Given the description of an element on the screen output the (x, y) to click on. 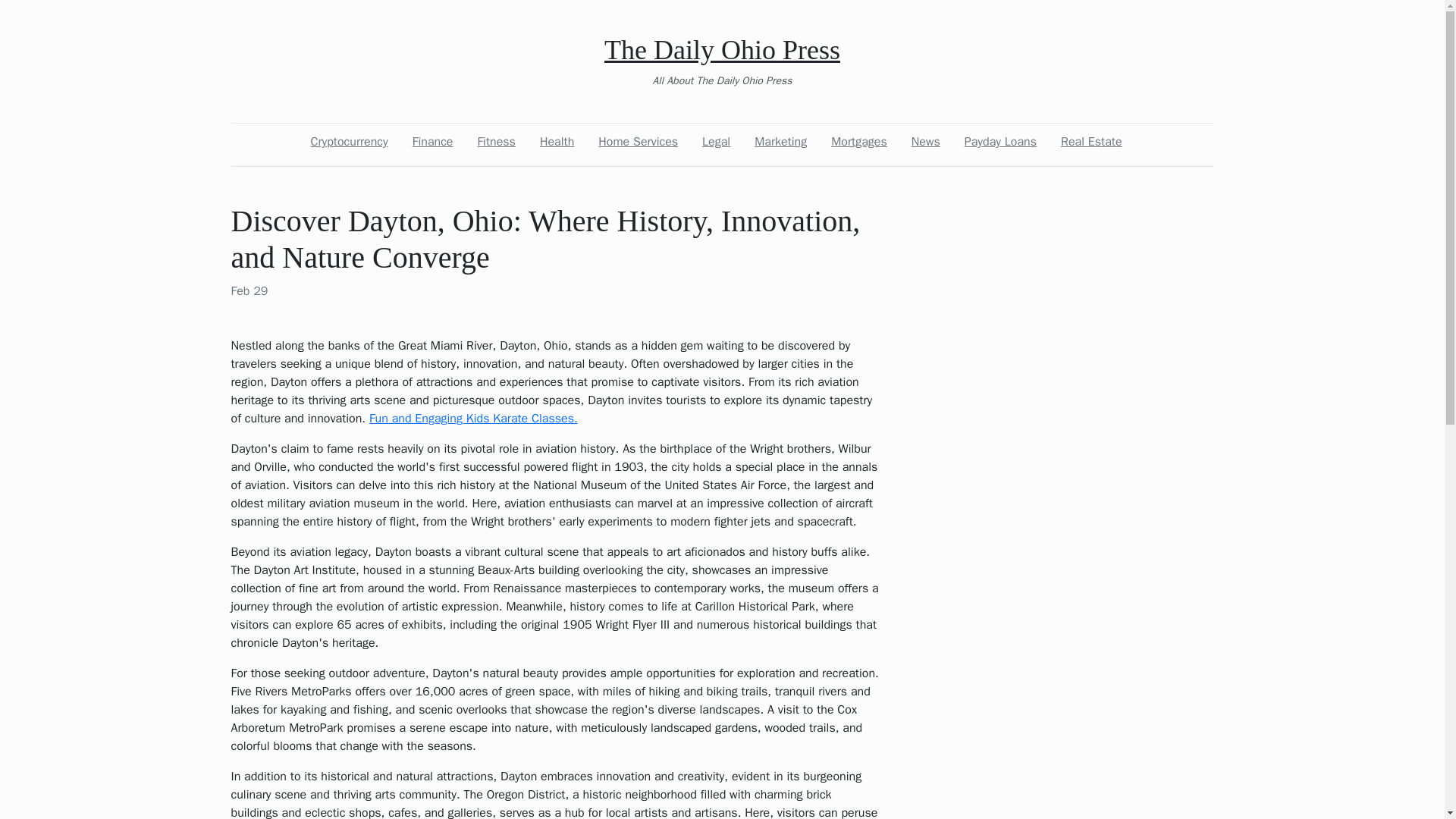
Real Estate (1091, 141)
Cryptocurrency (349, 141)
Fun and Engaging Kids Karate Classes. (473, 418)
News (925, 141)
Mortgages (859, 141)
Health (556, 141)
Home Services (638, 141)
Fitness (495, 141)
Payday Loans (1000, 141)
The Daily Ohio Press (722, 50)
Marketing (780, 141)
Legal (715, 141)
Finance (433, 141)
